Given the description of an element on the screen output the (x, y) to click on. 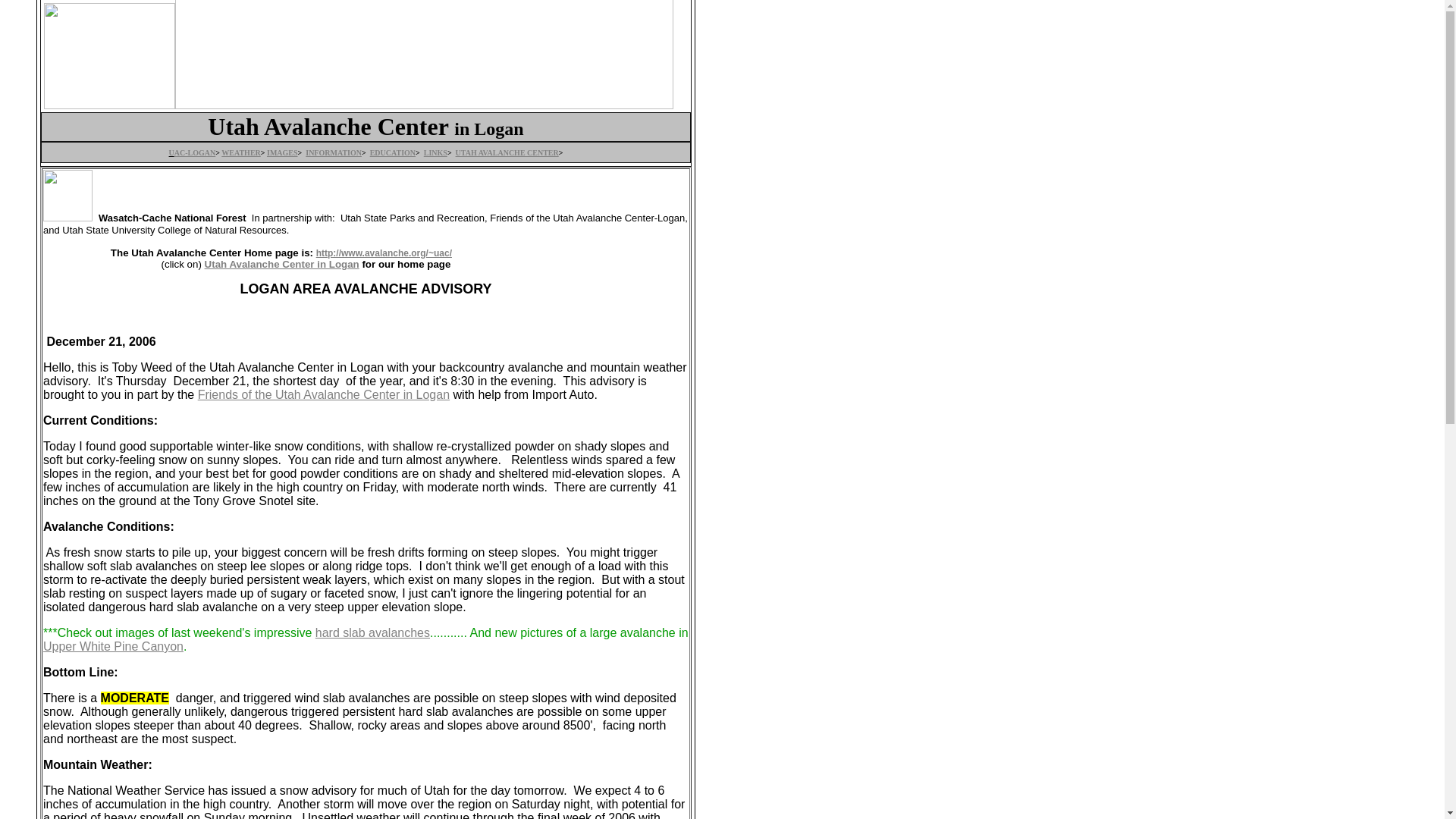
Upper White Pine Canyon (113, 645)
AC-LOGAN (194, 152)
INFORMATION (333, 152)
Friends of the Utah Avalanche Center in Logan (323, 394)
EDUCATION (391, 152)
WEATHER (240, 152)
IMAGES (282, 152)
UTAH AVALANCHE CENTER (507, 152)
Utah Avalanche Center in Logan (282, 264)
LINKS (434, 152)
